Given the description of an element on the screen output the (x, y) to click on. 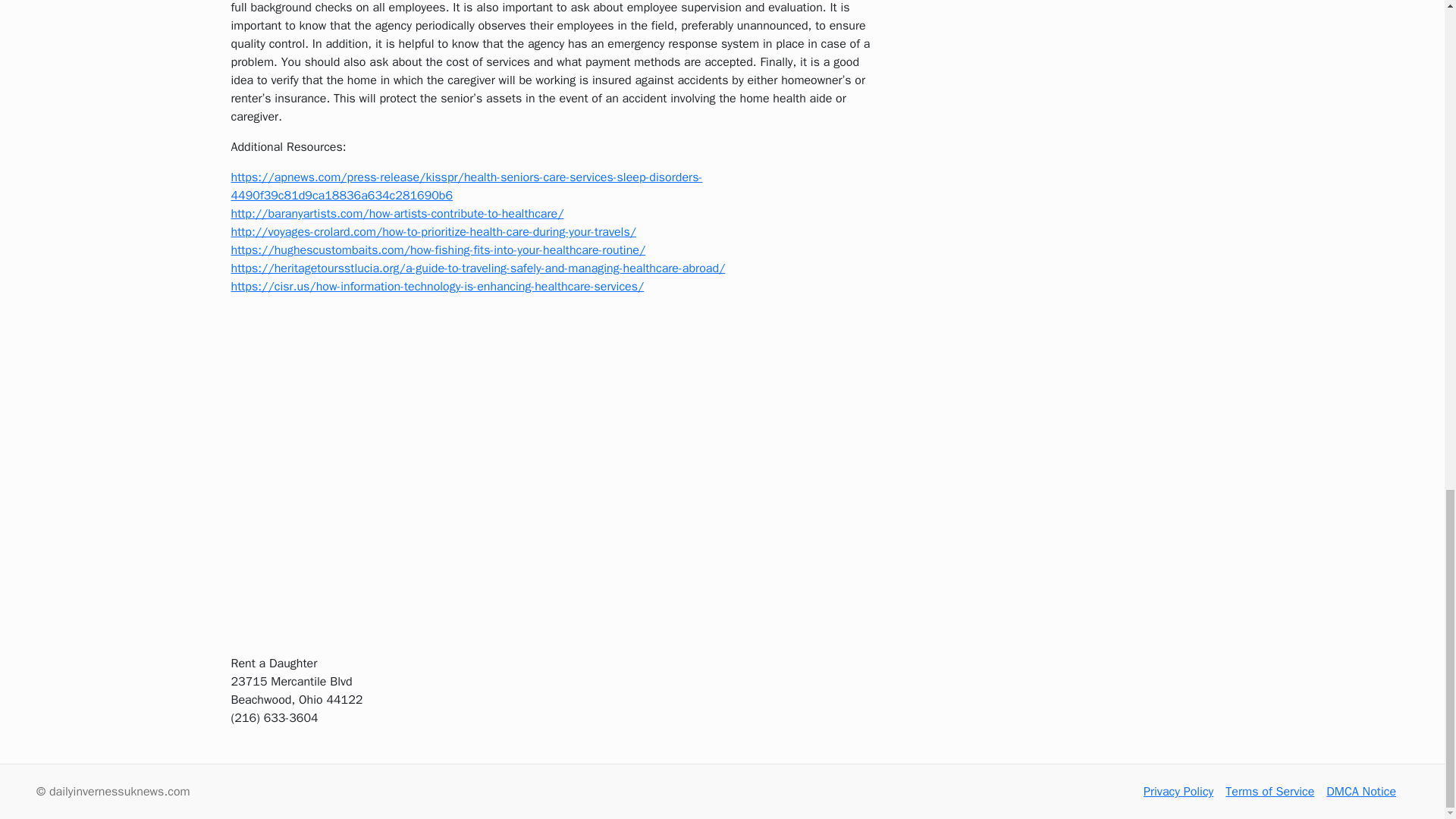
DMCA Notice (1361, 791)
Privacy Policy (1177, 791)
Terms of Service (1269, 791)
